Given the description of an element on the screen output the (x, y) to click on. 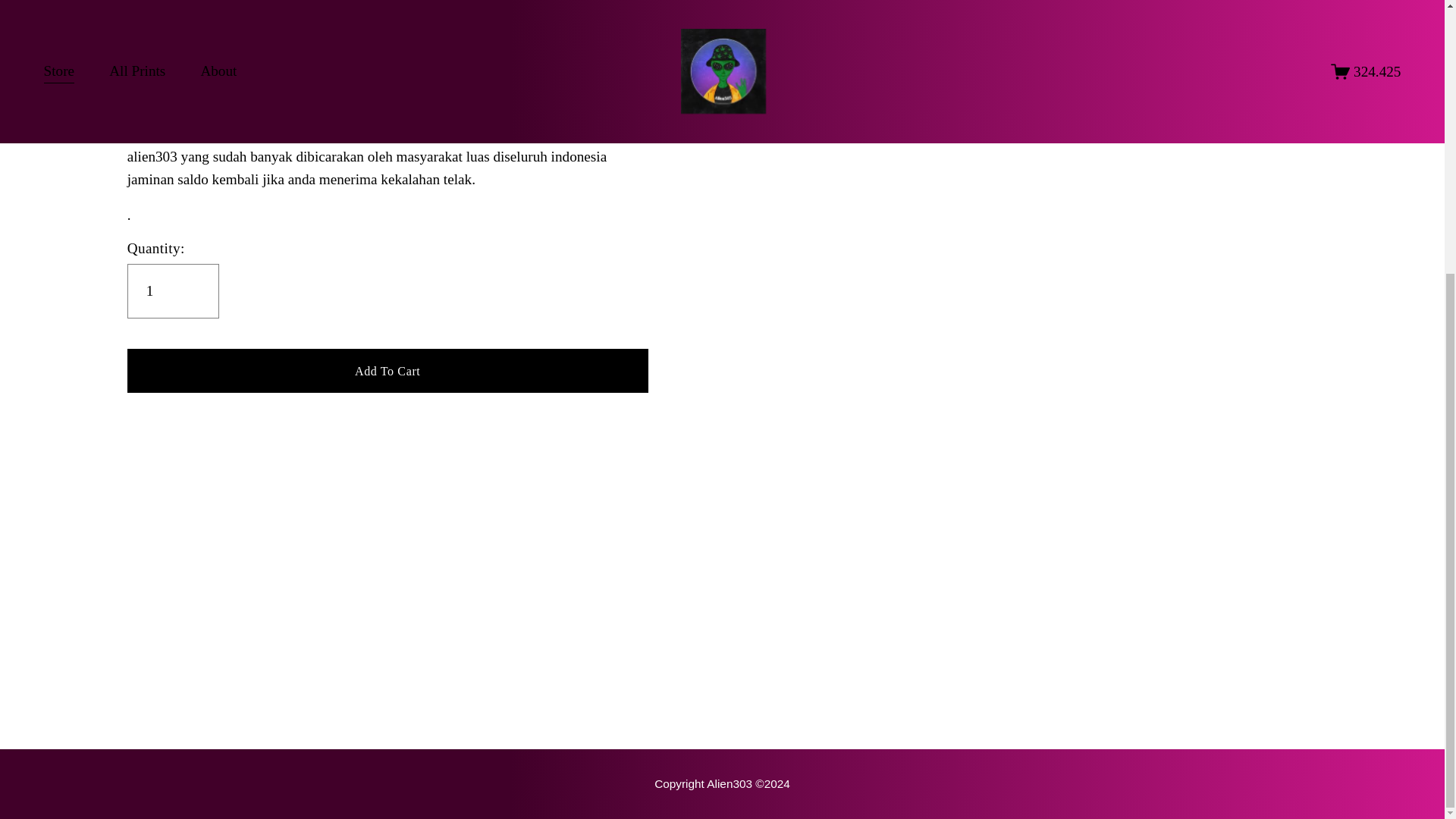
Alien303 (721, 783)
Add To Cart (387, 370)
Alien303 (154, 85)
1 (173, 290)
